Given the description of an element on the screen output the (x, y) to click on. 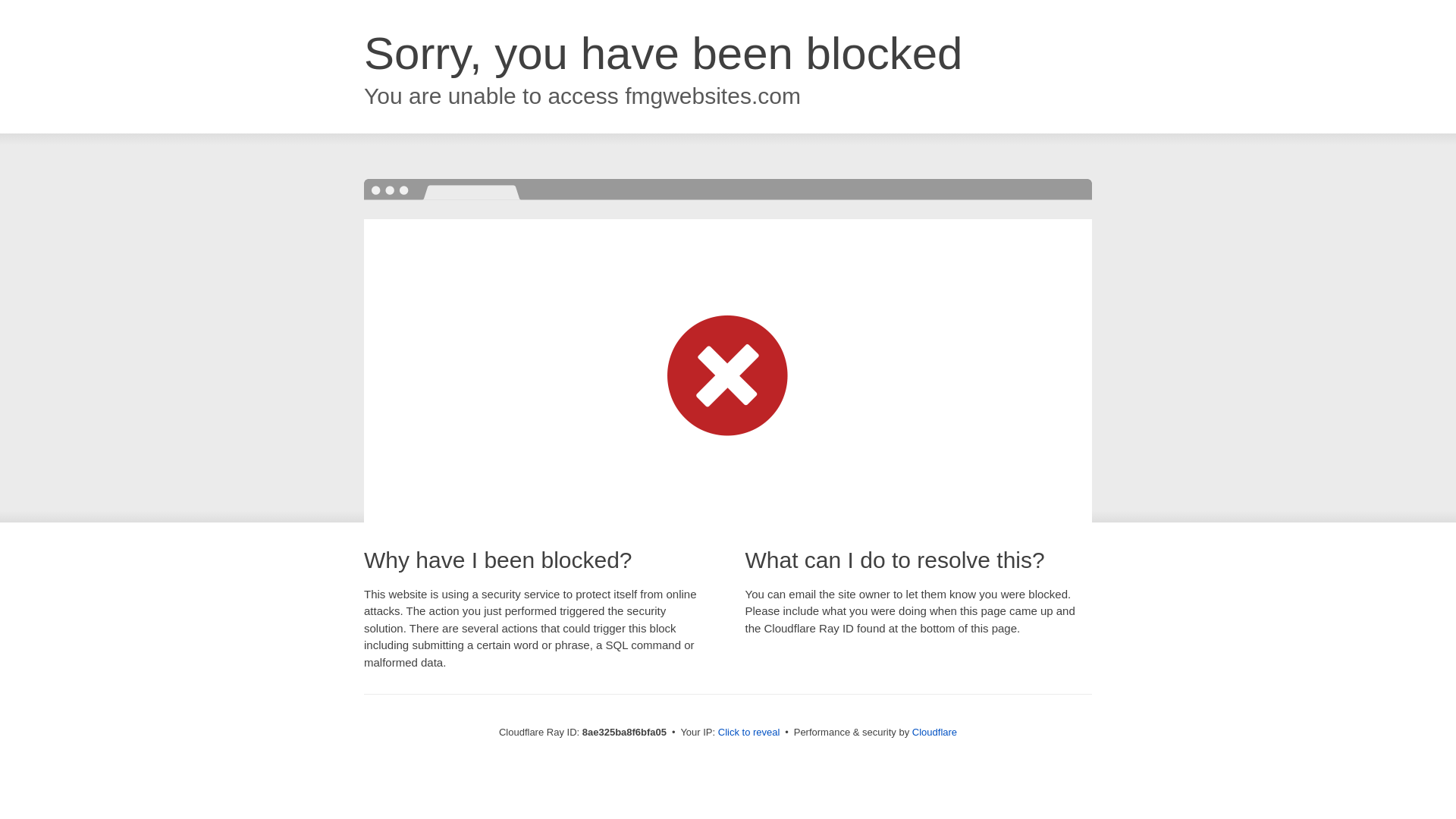
Cloudflare (934, 731)
Click to reveal (748, 732)
